Given the description of an element on the screen output the (x, y) to click on. 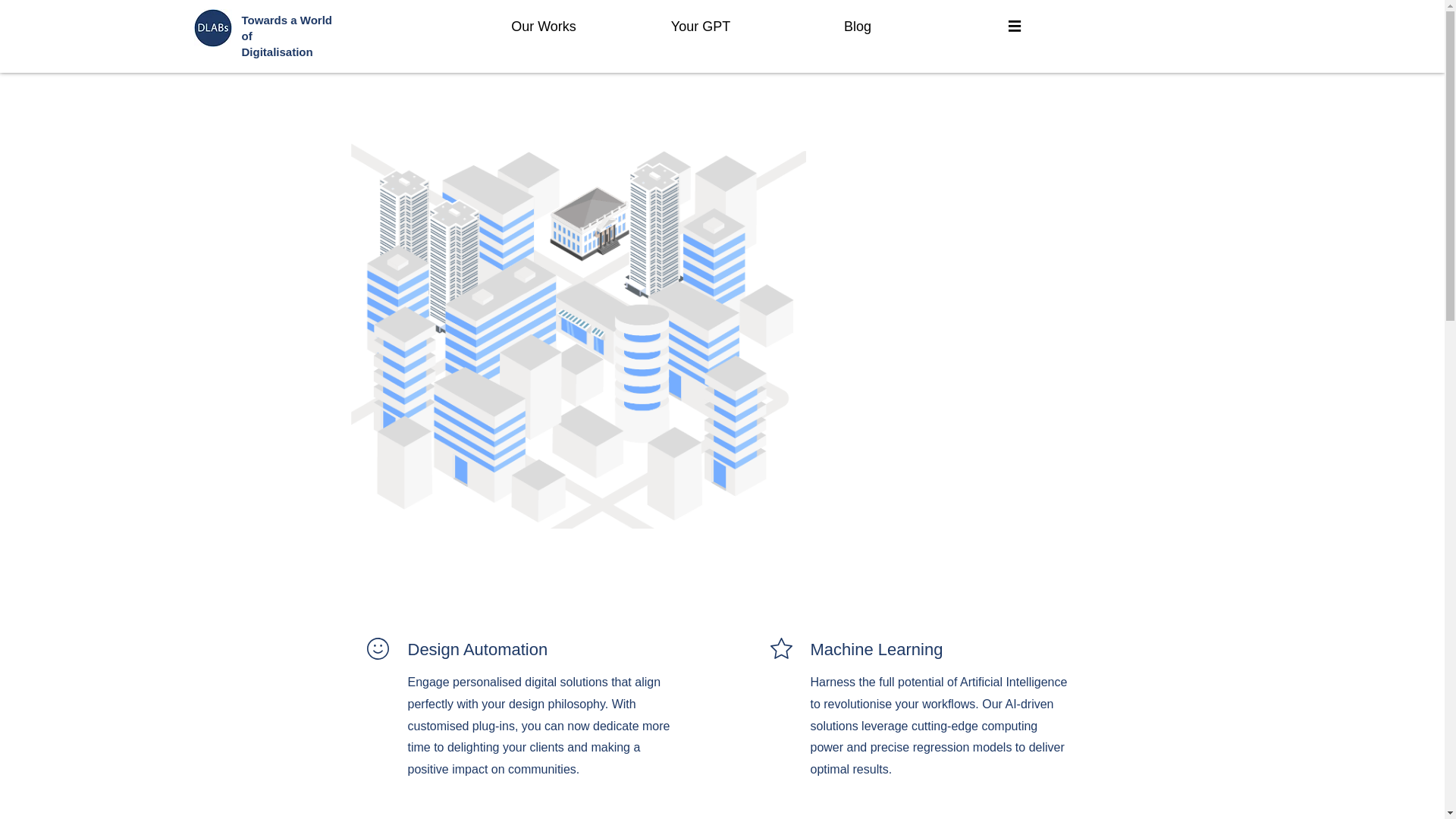
Blog (857, 26)
Our Works (544, 26)
Your GPT (699, 26)
Towards a World of (286, 27)
